Given the description of an element on the screen output the (x, y) to click on. 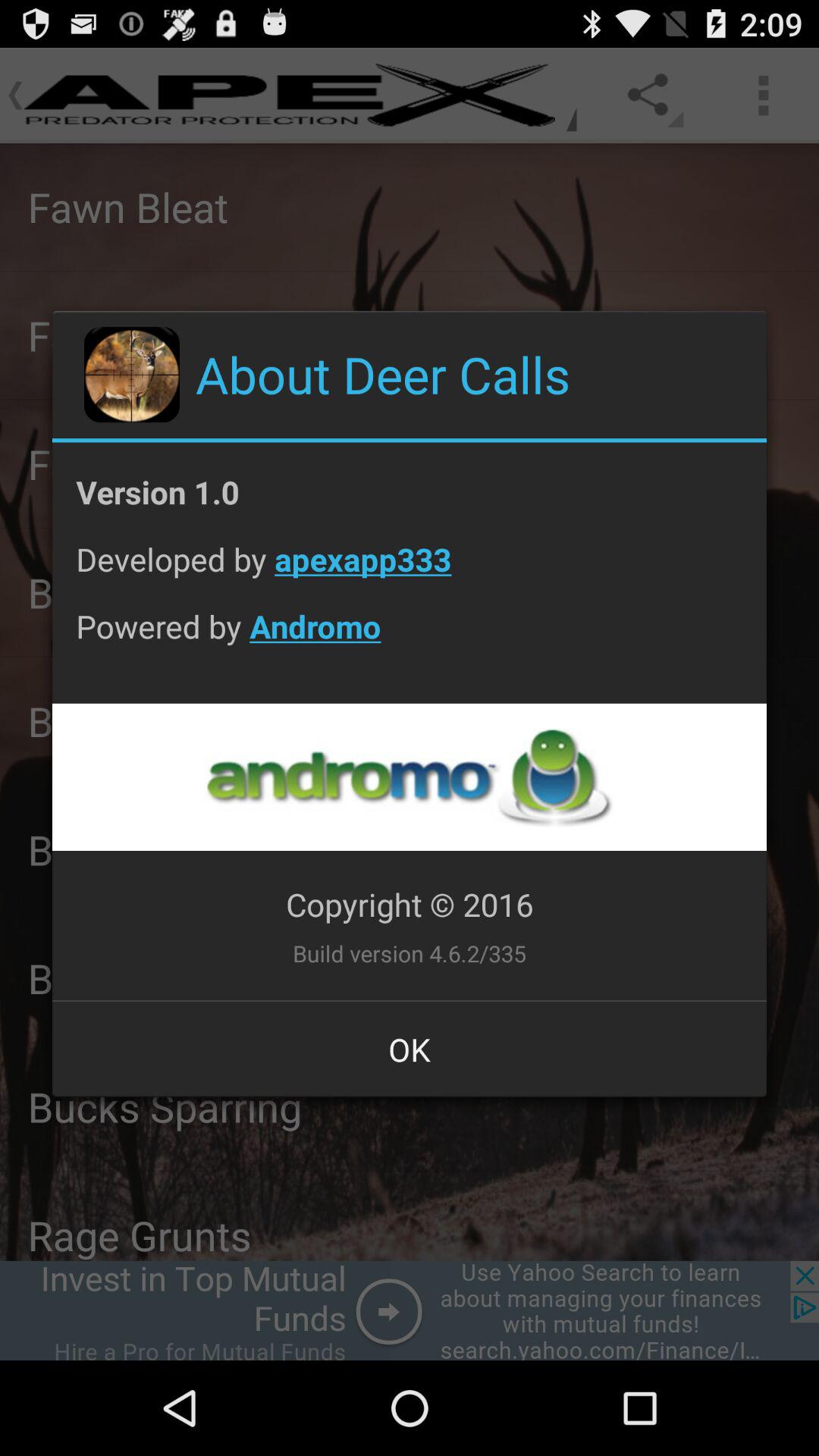
launch icon below developed by apexapp333 item (409, 637)
